Given the description of an element on the screen output the (x, y) to click on. 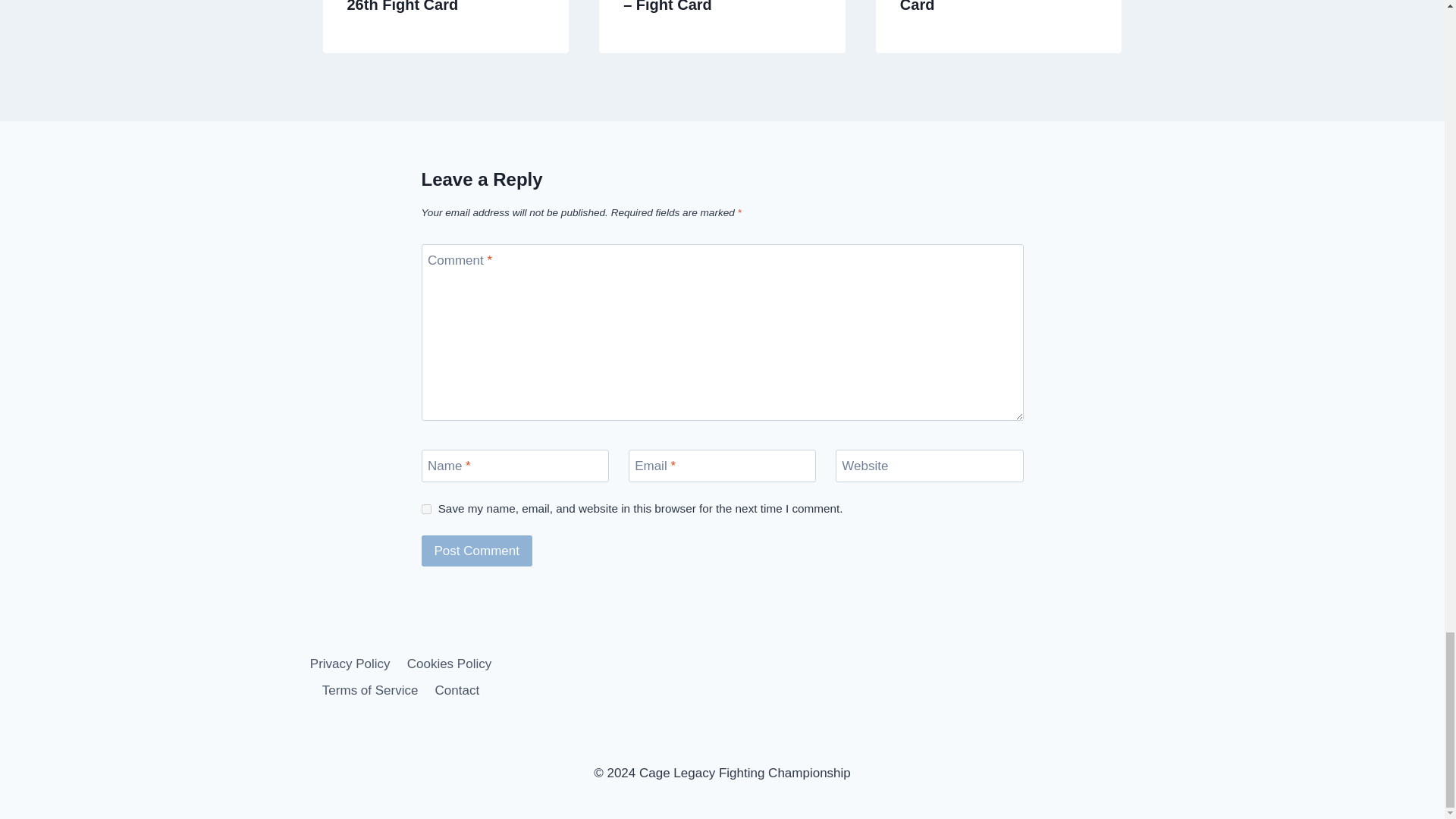
Cage Legacy 10 Draft Fight Card (997, 6)
yes (426, 509)
Cage Legacy KB 3: August 26th Fight Card (443, 6)
Post Comment (477, 550)
